Given the description of an element on the screen output the (x, y) to click on. 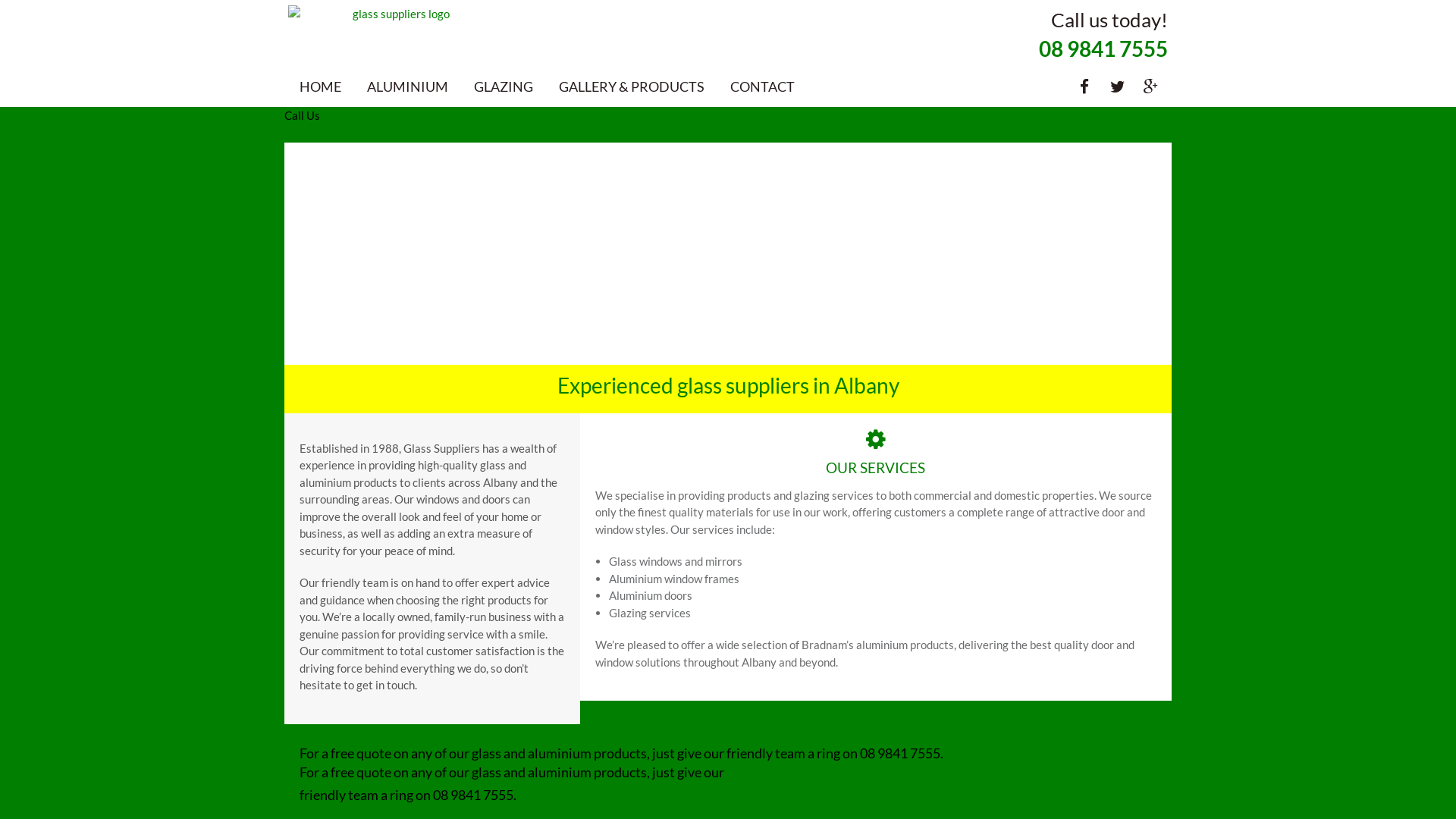
ALUMINIUM Element type: text (407, 86)
08 9841 7555 Element type: text (899, 752)
08 9841 7555 Element type: text (473, 794)
GALLERY & PRODUCTS Element type: text (631, 86)
08 9841 7555 Element type: text (1102, 48)
CONTACT Element type: text (762, 86)
Call Us Element type: text (302, 115)
GLAZING Element type: text (503, 86)
HOME Element type: text (320, 86)
glass suppliers logo Element type: hover (395, 13)
